Given the description of an element on the screen output the (x, y) to click on. 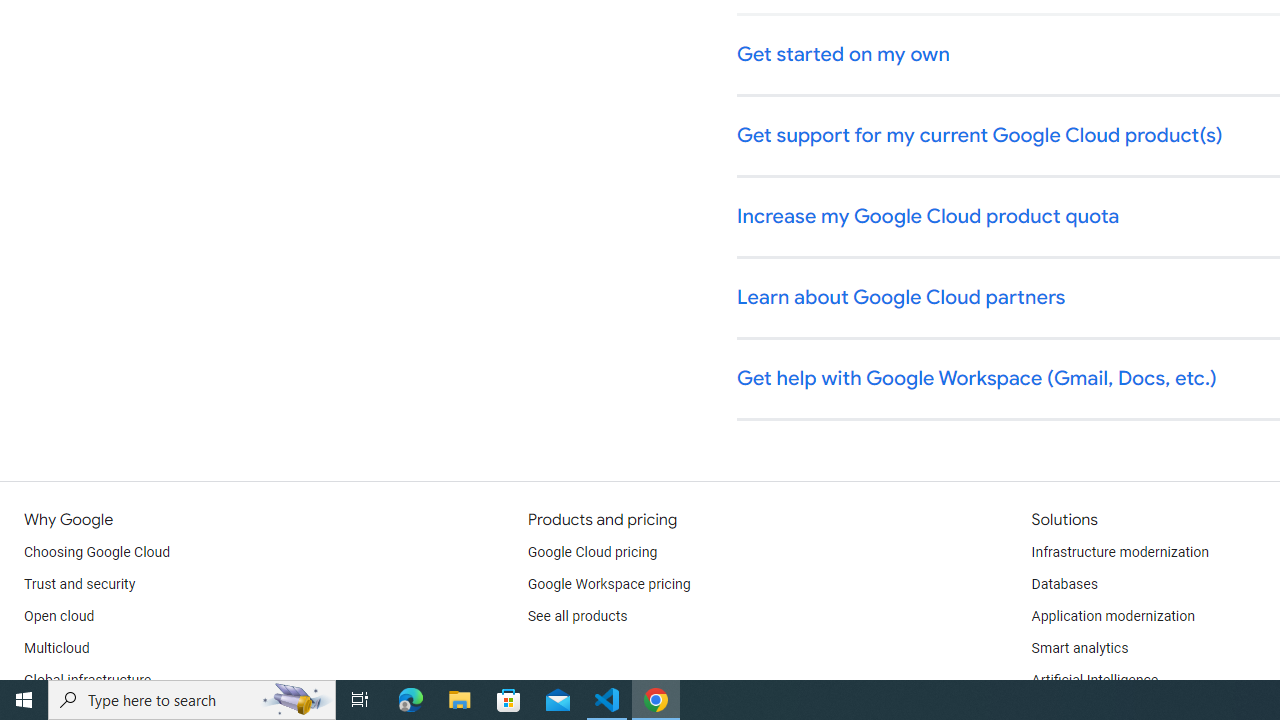
Smart analytics (1079, 648)
Infrastructure modernization (1119, 552)
Choosing Google Cloud (97, 552)
Artificial Intelligence (1094, 680)
Trust and security (79, 584)
Application modernization (1112, 616)
Open cloud (59, 616)
See all products (577, 616)
Google Workspace pricing (609, 584)
Multicloud (56, 648)
Databases (1064, 584)
Google Cloud pricing (592, 552)
Global infrastructure (88, 680)
